Given the description of an element on the screen output the (x, y) to click on. 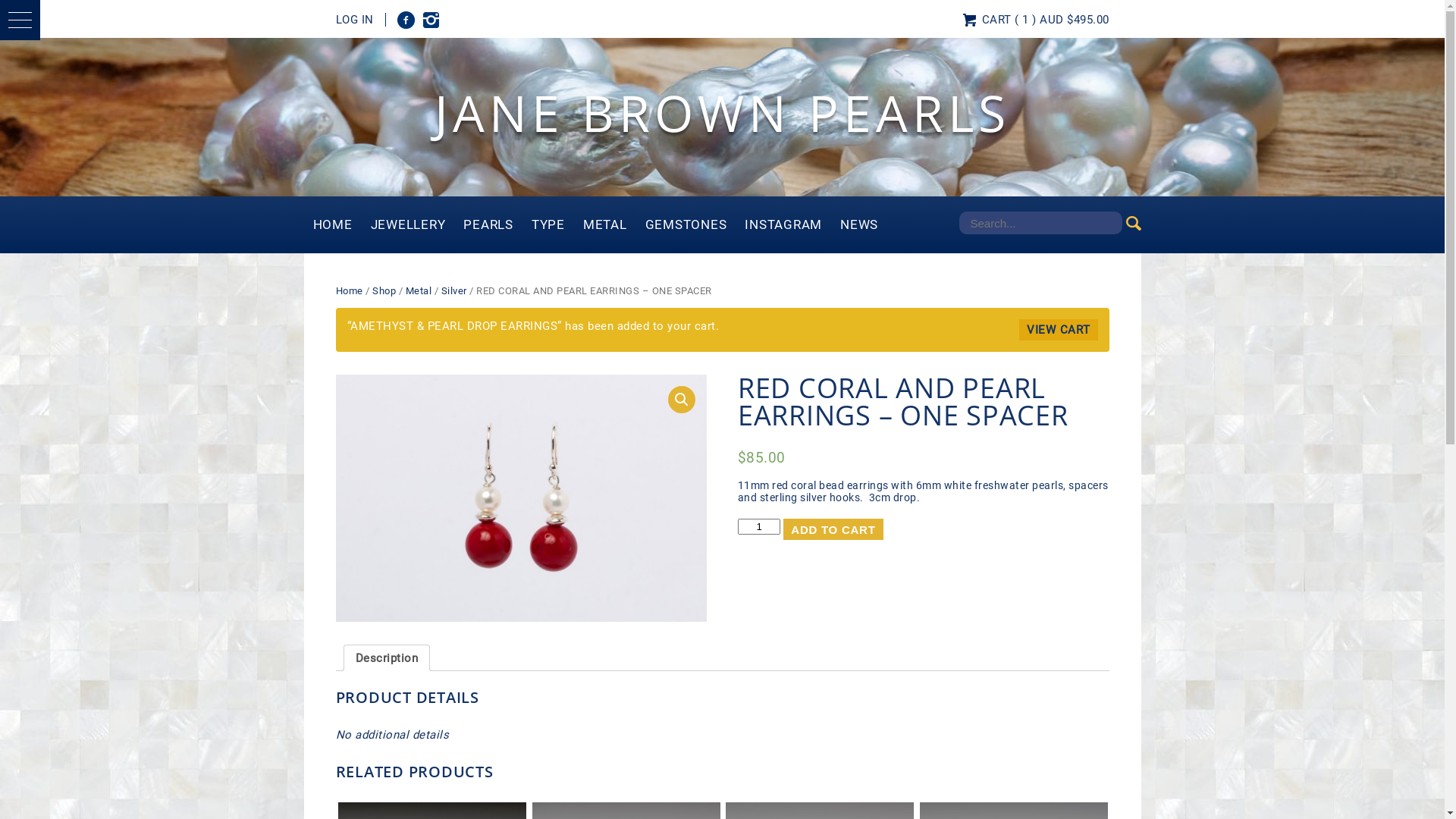
Silver Element type: text (454, 290)
INSTAGRAM Element type: text (783, 224)
Search Element type: text (32, 9)
Home Element type: text (348, 290)
Description Element type: text (385, 657)
TYPE Element type: text (548, 224)
PEARLS Element type: text (488, 224)
Shop Element type: text (383, 290)
GEMSTONES Element type: text (685, 224)
Search Element type: text (1132, 223)
Metal Element type: text (417, 290)
VIEW CART Element type: text (1058, 329)
FACEBOOK Element type: text (405, 19)
NEWS Element type: text (859, 224)
CART ( 1 ) AUD $495.00 Element type: text (1041, 19)
ADD TO CART Element type: text (832, 528)
HOME Element type: text (331, 224)
INSTAGRAM Element type: text (430, 19)
JEWELLERY Element type: text (407, 224)
JANE BROWN PEARLS Element type: text (722, 111)
LOG IN Element type: text (360, 19)
RED CORAL AND PEARL EARRINGS - ONE SPACER Element type: hover (520, 497)
METAL Element type: text (605, 224)
